Given the description of an element on the screen output the (x, y) to click on. 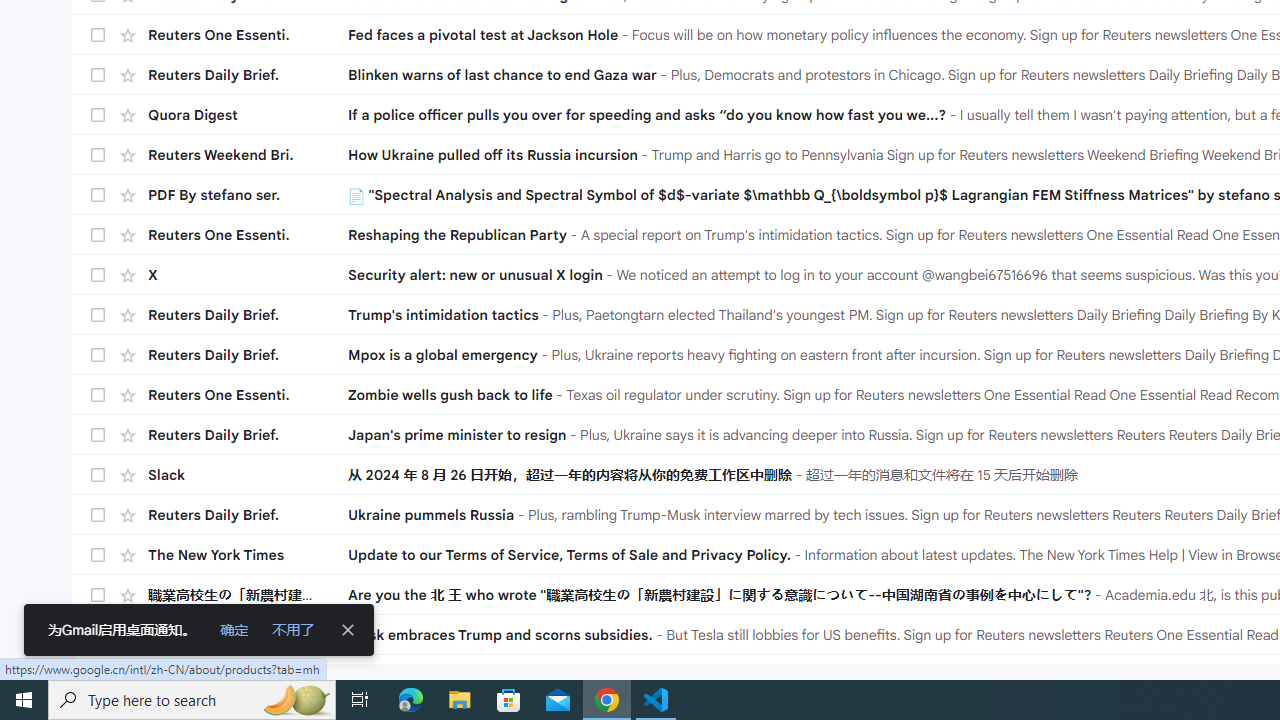
Reuters Weekend Bri. (248, 154)
The New York Times (248, 555)
